Given the description of an element on the screen output the (x, y) to click on. 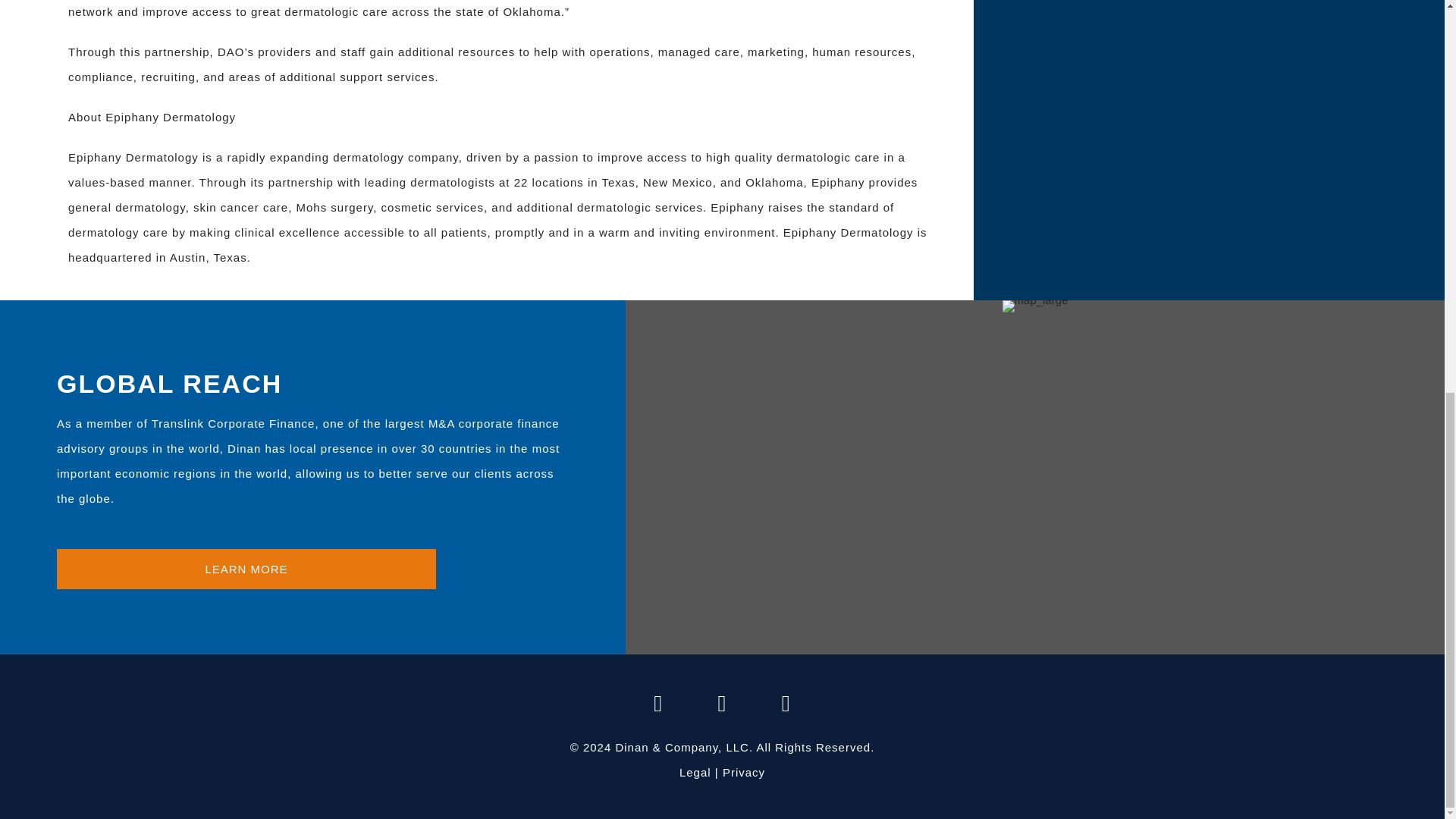
Privacy (743, 771)
Legal (695, 771)
LEARN MORE (245, 568)
